Given the description of an element on the screen output the (x, y) to click on. 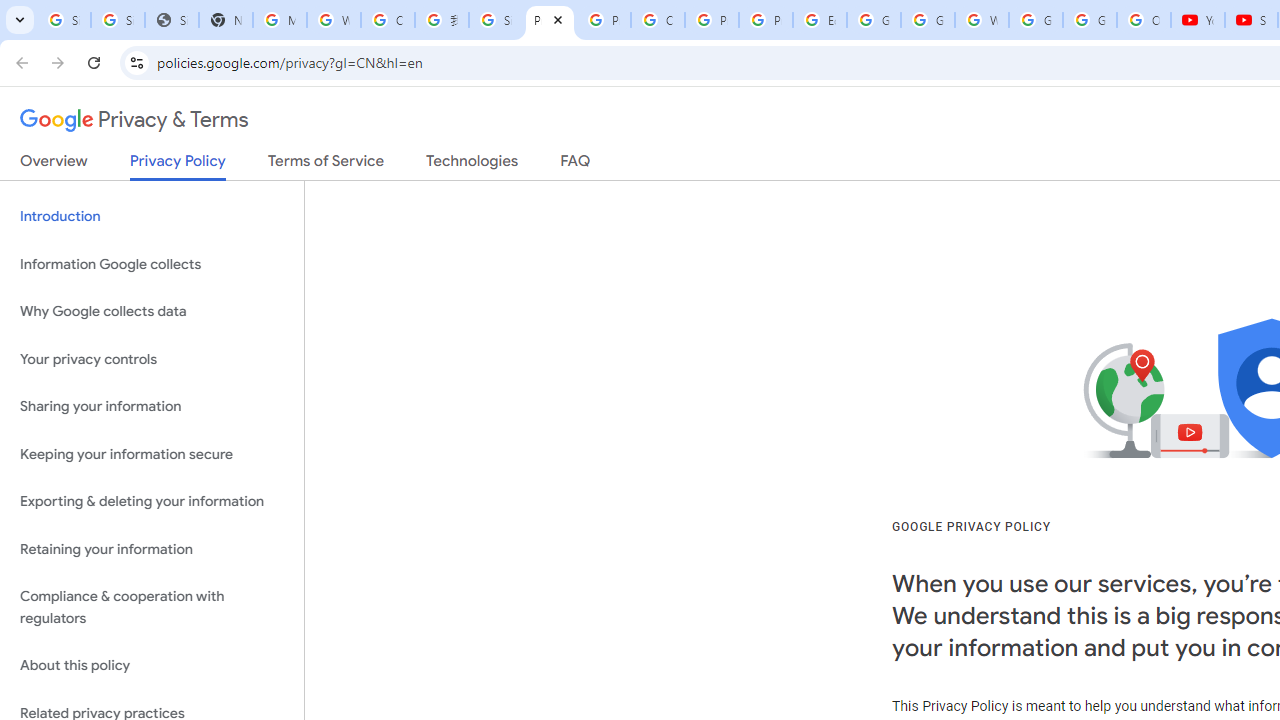
Overview (54, 165)
Privacy Policy (177, 166)
Sign in - Google Accounts (117, 20)
Google Slides: Sign-in (874, 20)
New Tab (225, 20)
Why Google collects data (152, 312)
Your privacy controls (152, 358)
Exporting & deleting your information (152, 502)
Create your Google Account (657, 20)
Compliance & cooperation with regulators (152, 607)
Edit and view right-to-left text - Google Docs Editors Help (819, 20)
Technologies (472, 165)
